Given the description of an element on the screen output the (x, y) to click on. 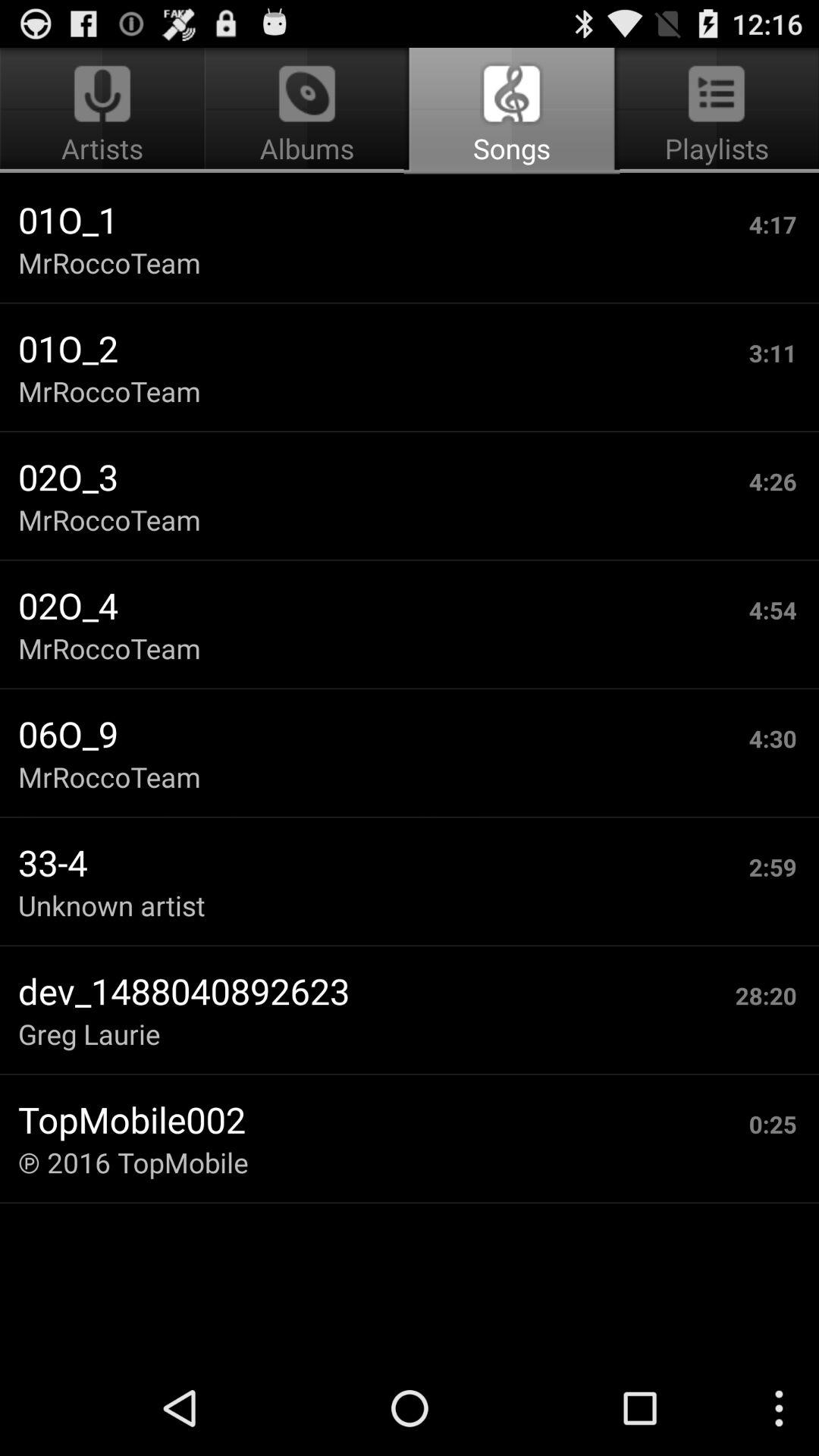
jump to the playlists item (713, 111)
